Given the description of an element on the screen output the (x, y) to click on. 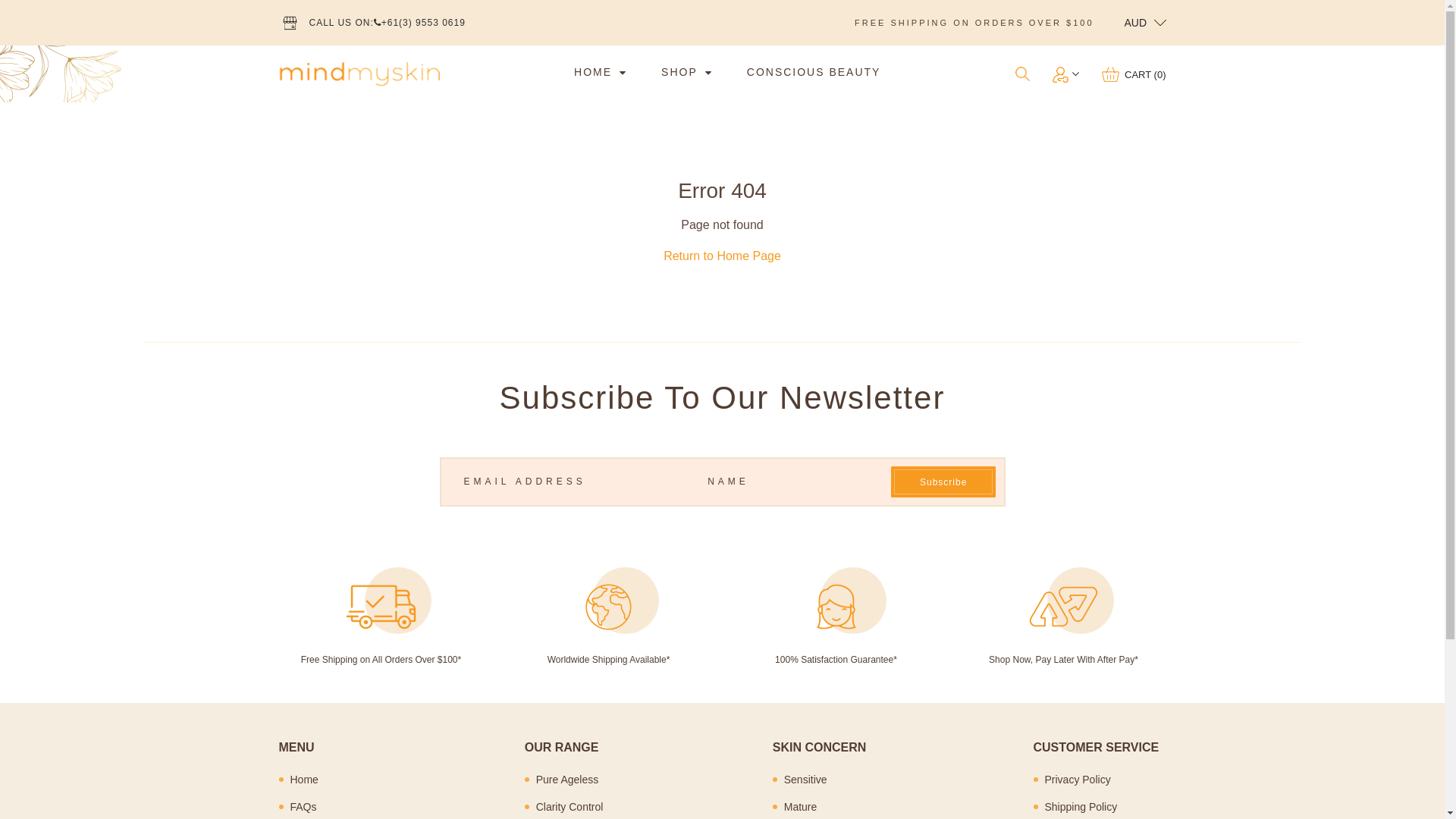
Shipping Policy Element type: text (1105, 806)
+61(3) 9553 0619 Element type: text (419, 22)
Pure Ageless Element type: text (570, 779)
Mature Element type: text (825, 806)
SHOP Element type: text (679, 71)
CART ( 0 ) Element type: text (1133, 73)
HOME Element type: text (592, 71)
Sensitive Element type: text (825, 779)
CONSCIOUS BEAUTY Element type: text (813, 71)
Home Element type: text (323, 779)
FAQs Element type: text (323, 806)
Privacy Policy Element type: text (1105, 779)
Subscribe Element type: text (943, 481)
Return to Home Page Element type: text (722, 256)
Clarity Control Element type: text (570, 806)
